Given the description of an element on the screen output the (x, y) to click on. 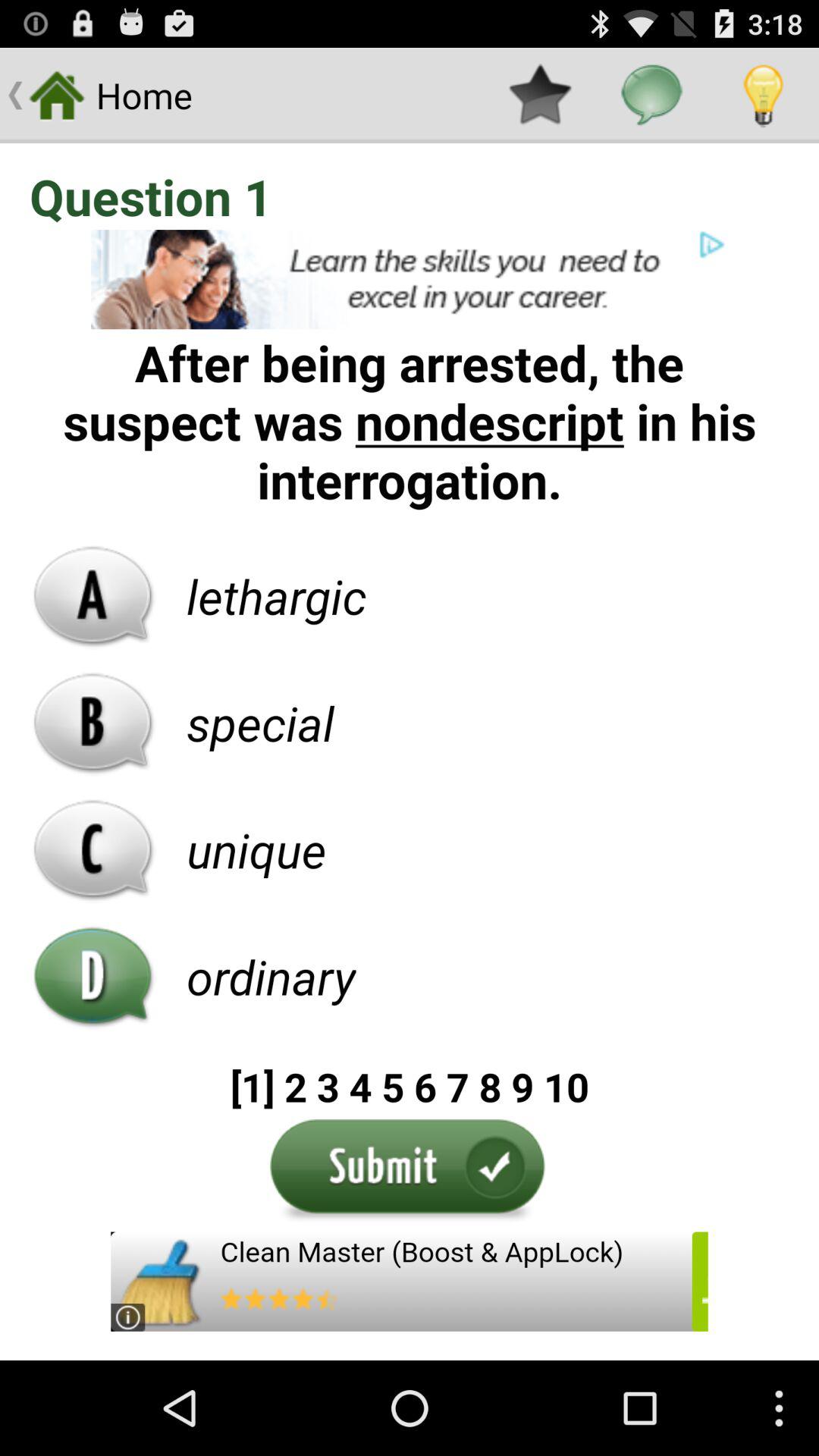
advertisement for career skills (409, 279)
